Given the description of an element on the screen output the (x, y) to click on. 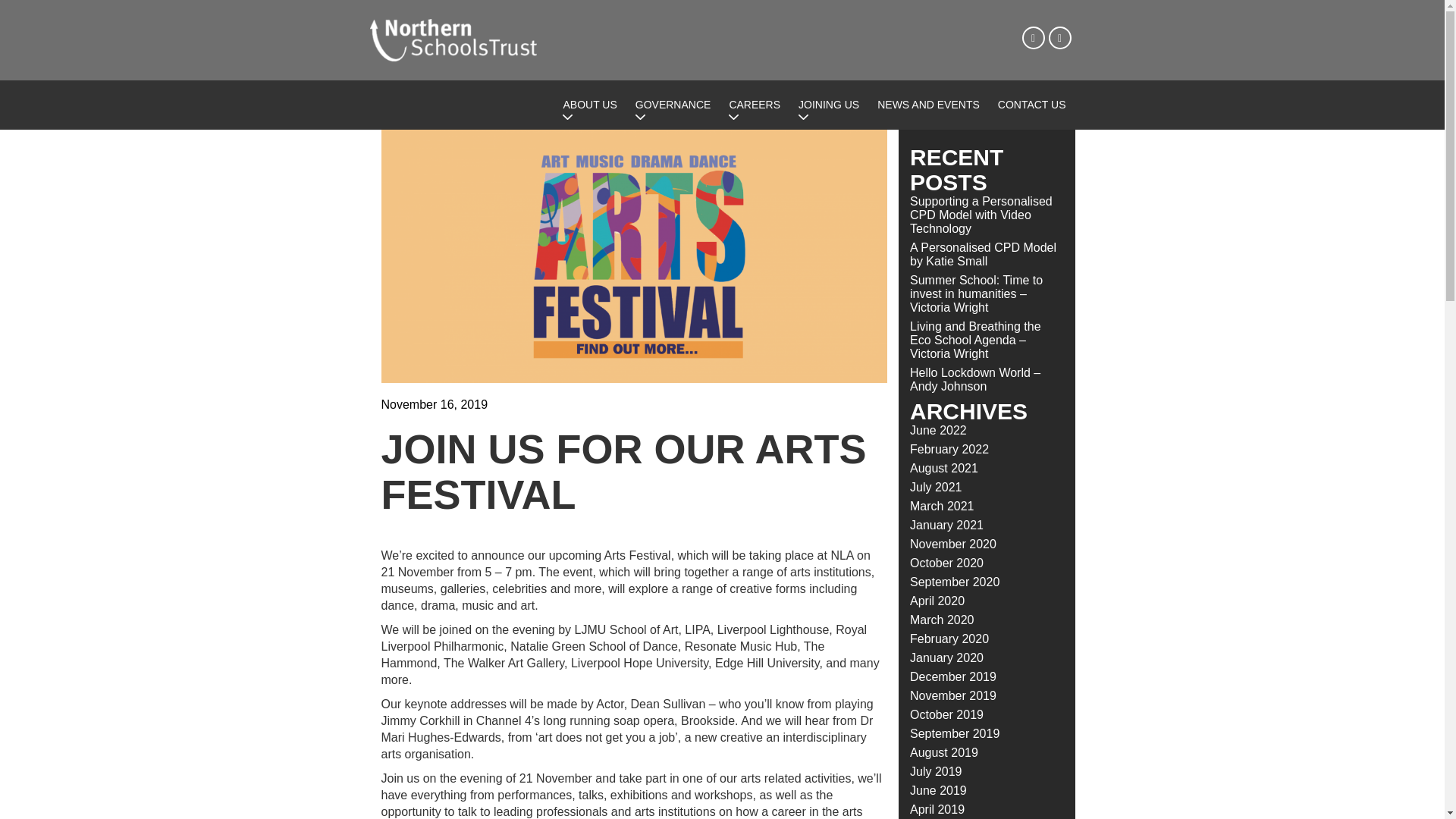
GOVERNANCE (673, 104)
Supporting a Personalised CPD Model with Video Technology (981, 214)
JOINING US (828, 104)
A Personalised CPD Model by Katie Small (983, 253)
ABOUT US (589, 104)
November 16, 2019 (433, 404)
NEWS AND EVENTS (927, 104)
CONTACT US (1031, 104)
CAREERS (754, 104)
